Given the description of an element on the screen output the (x, y) to click on. 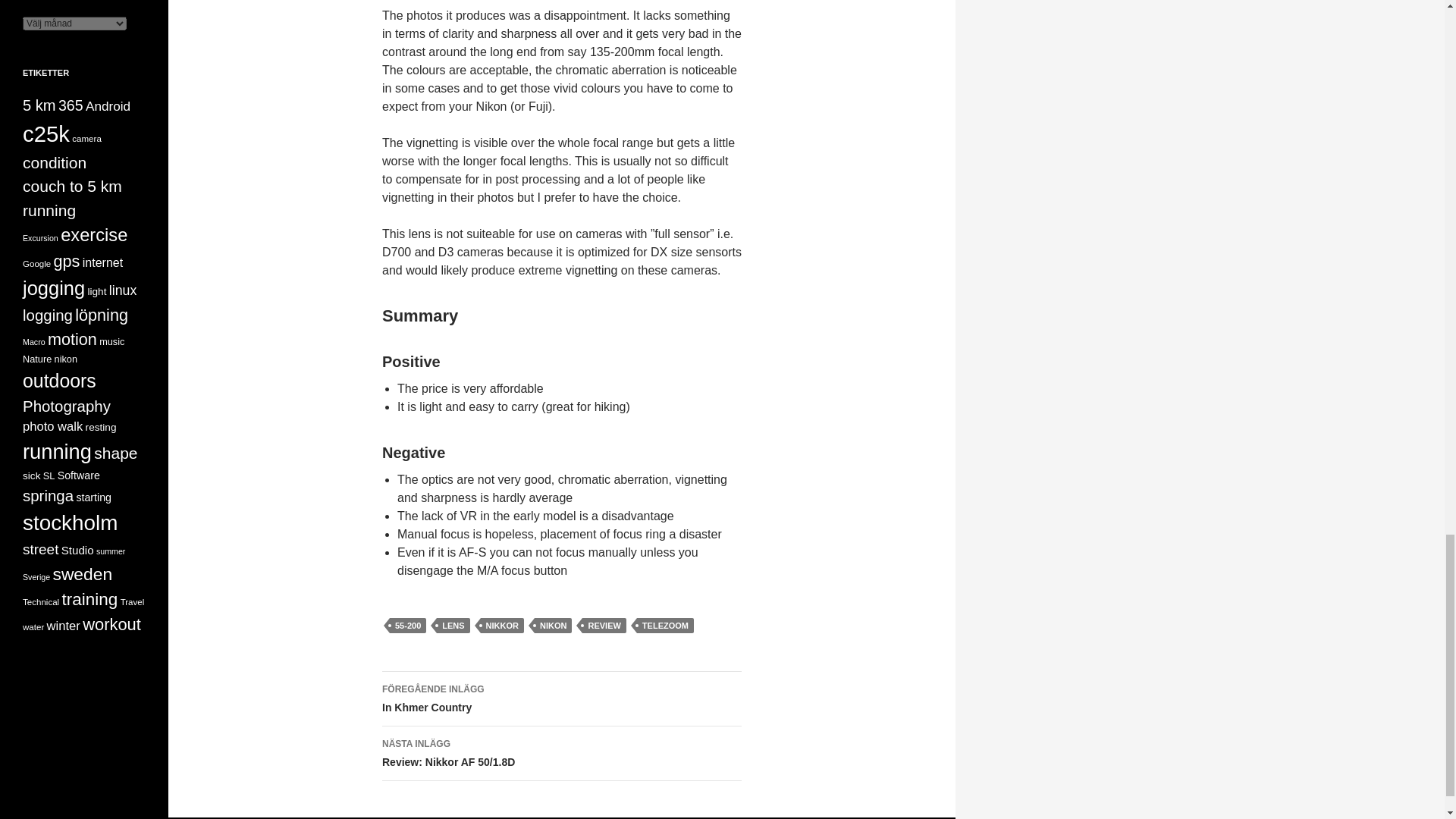
REVIEW (604, 625)
55-200 (408, 625)
TELEZOOM (665, 625)
NIKON (553, 625)
NIKKOR (502, 625)
LENS (452, 625)
